Given the description of an element on the screen output the (x, y) to click on. 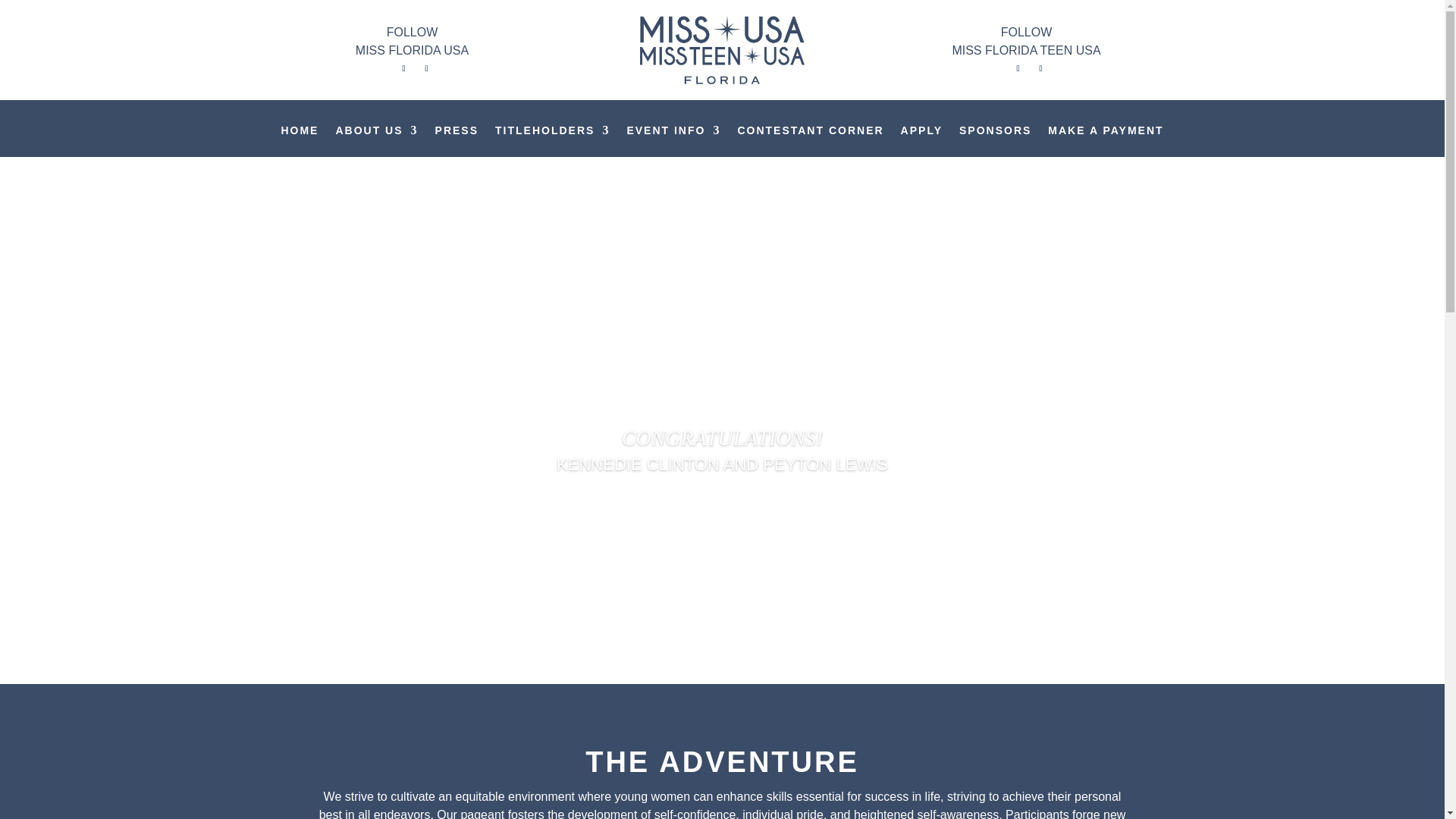
MU FULL - FLORIDA - Dark Blue (722, 49)
HOME (299, 141)
PRESS (457, 141)
ABOUT US (375, 141)
TITLEHOLDERS (552, 141)
Follow on Facebook (427, 67)
Follow on Instagram (1018, 67)
EVENT INFO (673, 141)
Follow on Instagram (404, 67)
Follow on Facebook (1040, 67)
